Given the description of an element on the screen output the (x, y) to click on. 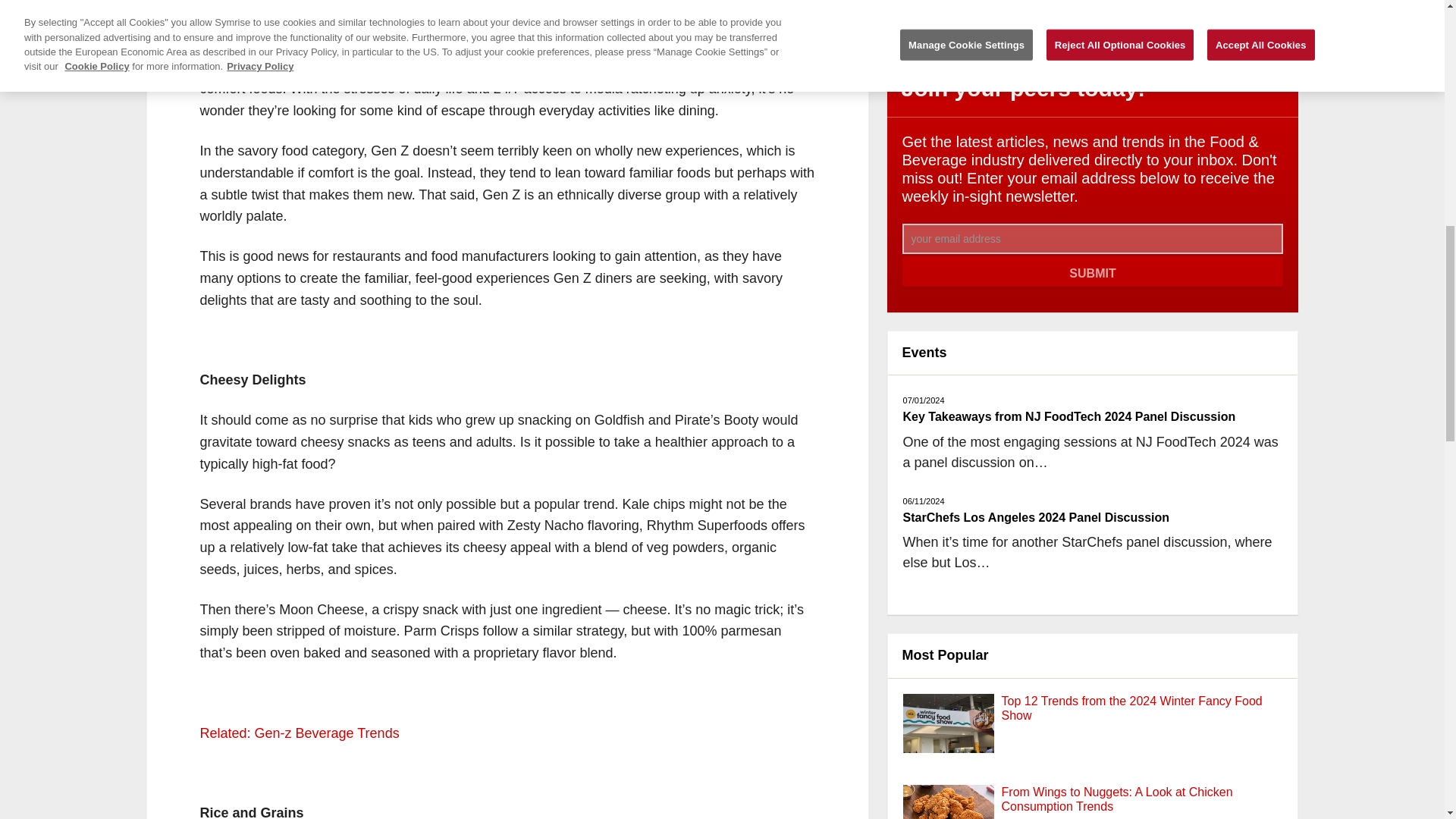
submit (1093, 272)
Top 12 Trends from the 2024 Winter Fancy Food Show (948, 738)
submit (1093, 272)
Key Takeaways from NJ FoodTech 2024 Panel Discussion (1069, 416)
Related: Gen-z Beverage Trends (299, 733)
From Wings to Nuggets: A Look at Chicken Consumption Trends (1117, 799)
Top 12 Trends from the 2024 Winter Fancy Food Show (1131, 707)
From Wings to Nuggets: A Look at Chicken Consumption Trends (948, 801)
Key Takeaways from NJ FoodTech 2024 Panel Discussion (1069, 416)
your email address (1093, 238)
From Wings to Nuggets: A Look at Chicken Consumption Trends (1117, 799)
StarChefs Los Angeles 2024 Panel Discussion (1036, 517)
Top 12 Trends from the 2024 Winter Fancy Food Show (1131, 707)
StarChefs Los Angeles 2024 Panel Discussion (1036, 517)
